Given the description of an element on the screen output the (x, y) to click on. 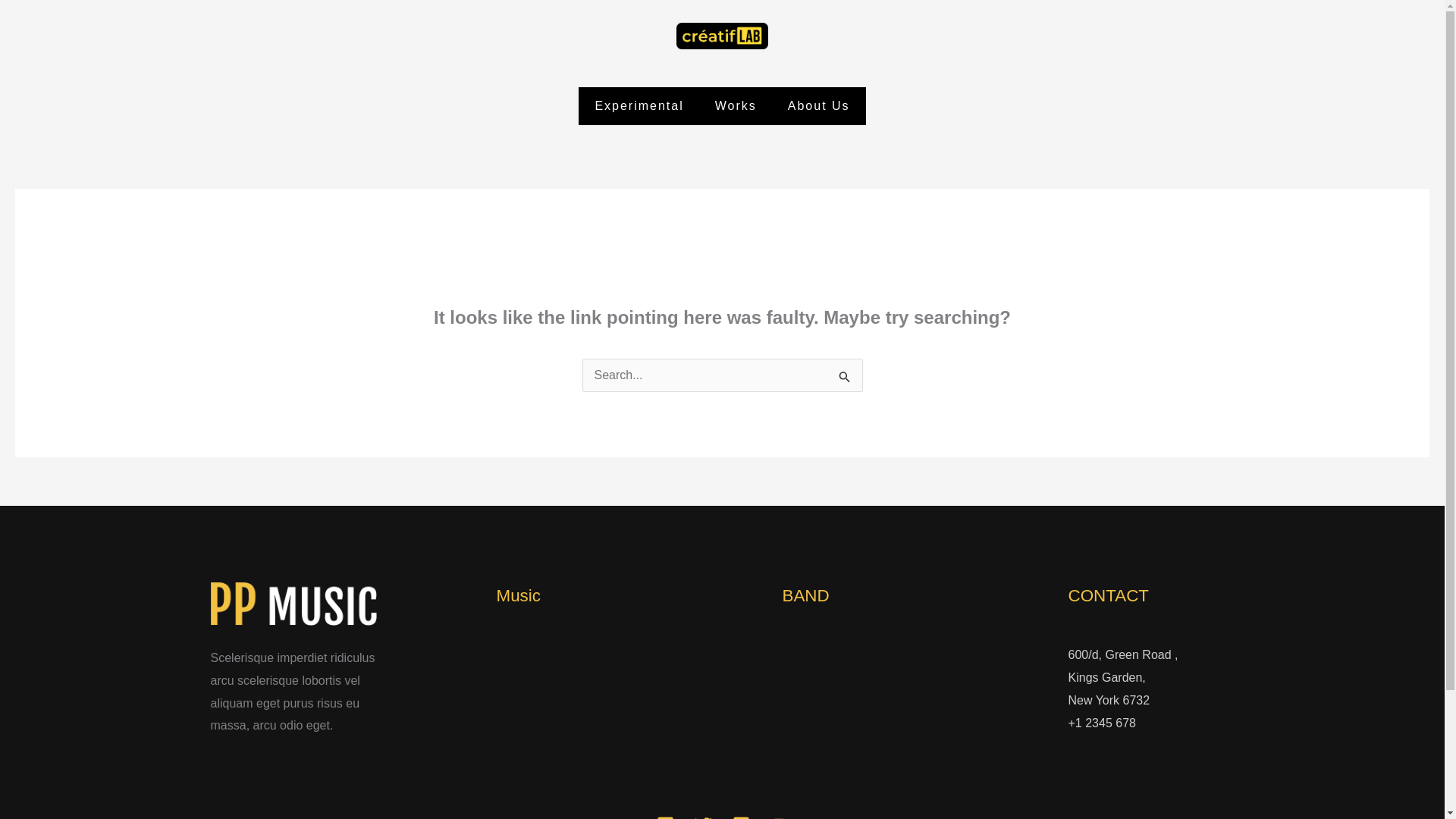
Experimental (638, 105)
Works (736, 105)
About Us (819, 105)
